Given the description of an element on the screen output the (x, y) to click on. 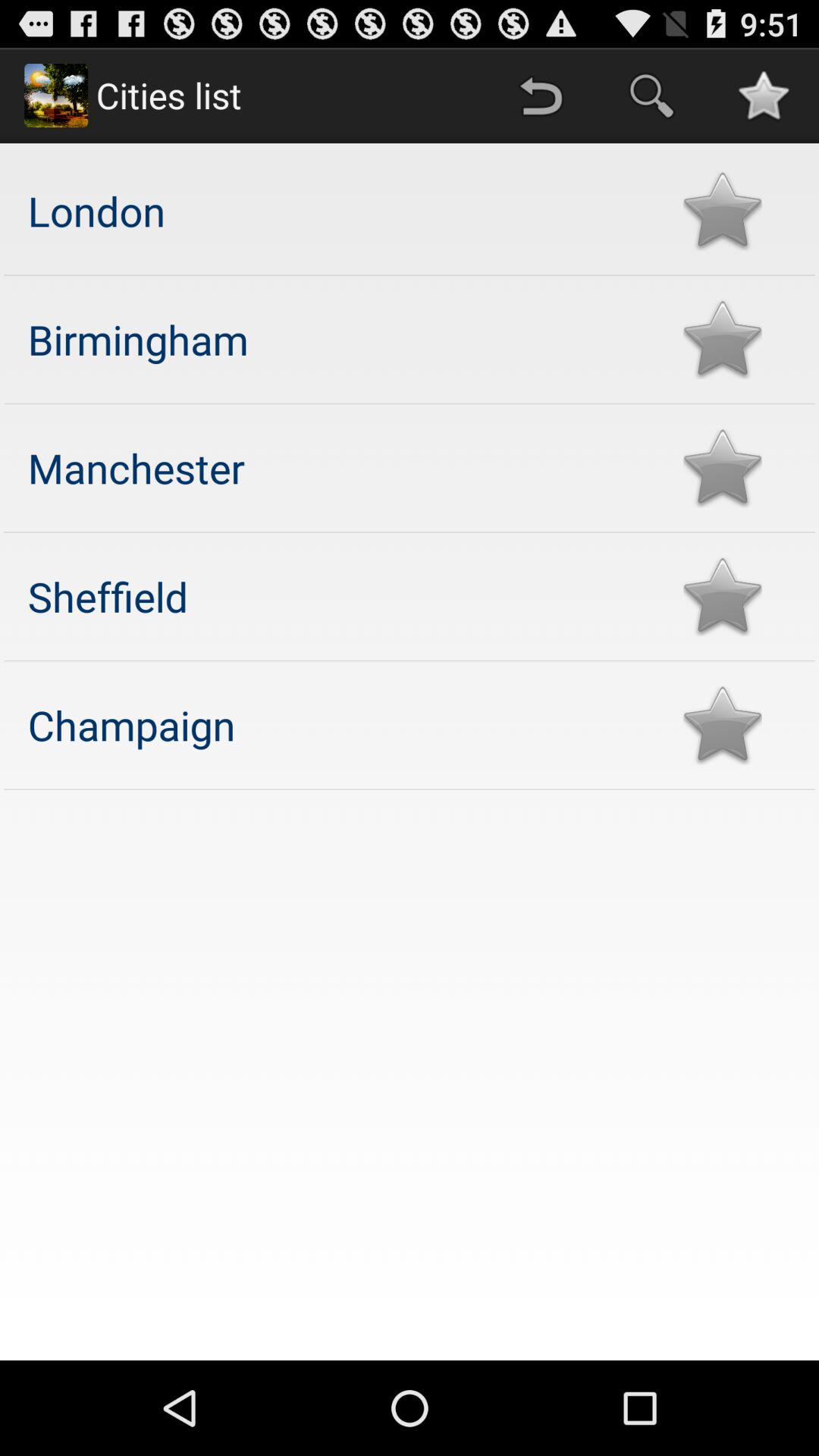
add to favorites (722, 596)
